Given the description of an element on the screen output the (x, y) to click on. 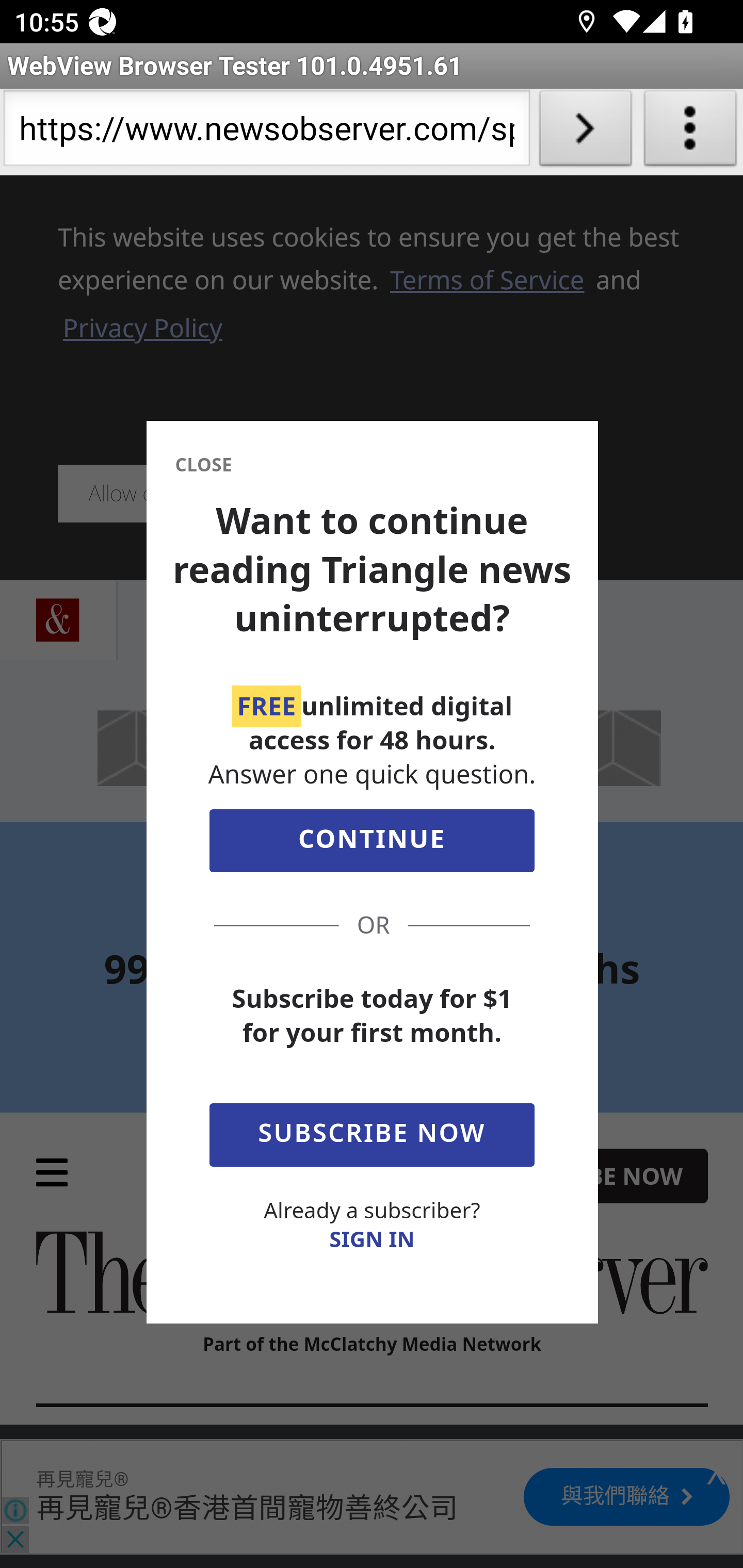
Load URL (585, 132)
About WebView (690, 132)
CLOSE (203, 464)
CONTINUE (371, 844)
SUBSCRIBE NOW (371, 1130)
SIGN IN (371, 1239)
